Given the description of an element on the screen output the (x, y) to click on. 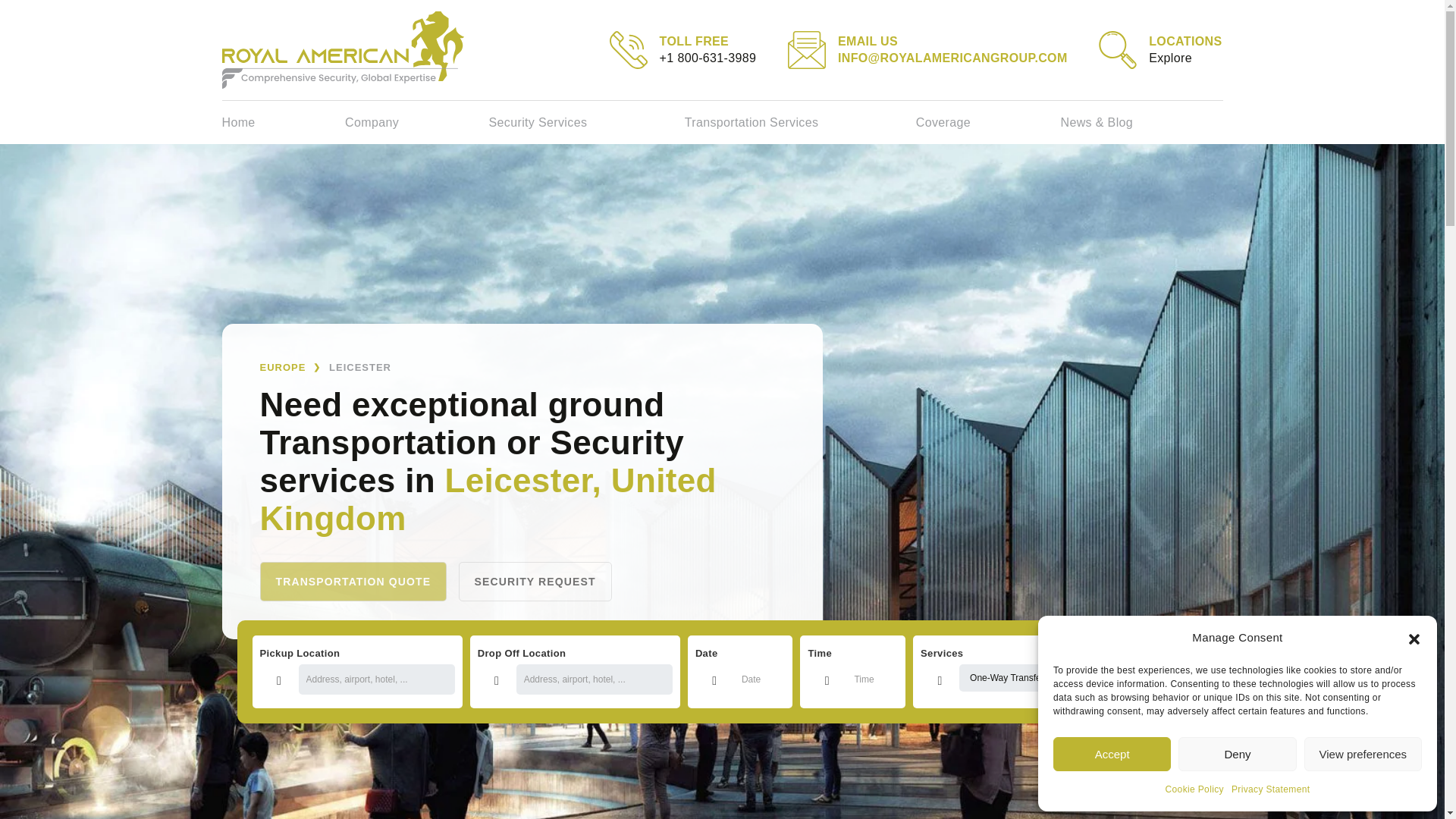
Privacy Statement (1270, 789)
Accept (1111, 754)
Company (416, 122)
View preferences (1363, 754)
Coverage (1160, 49)
TRANSPORTATION QUOTE (988, 122)
Home (352, 581)
FREE QUOTE (283, 122)
SECURITY REQUEST (1169, 671)
EUROPE (534, 581)
Security Services (289, 367)
Cookie Policy (586, 122)
Deny (1195, 789)
Transportation Services (1236, 754)
